Given the description of an element on the screen output the (x, y) to click on. 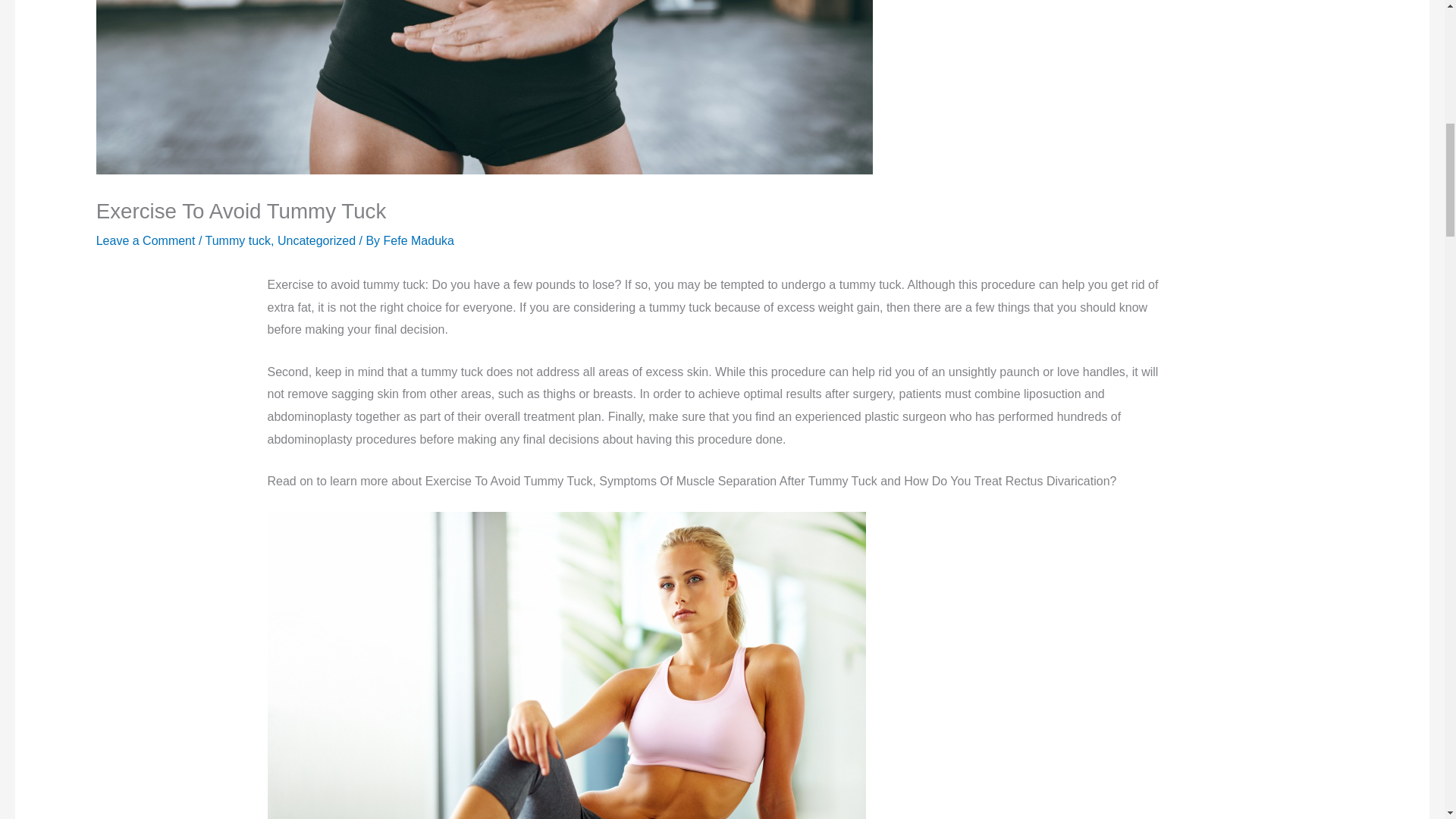
Uncategorized (316, 240)
Tummy tuck (237, 240)
View all posts by Fefe Maduka (419, 240)
Fefe Maduka (419, 240)
Leave a Comment (145, 240)
